Given the description of an element on the screen output the (x, y) to click on. 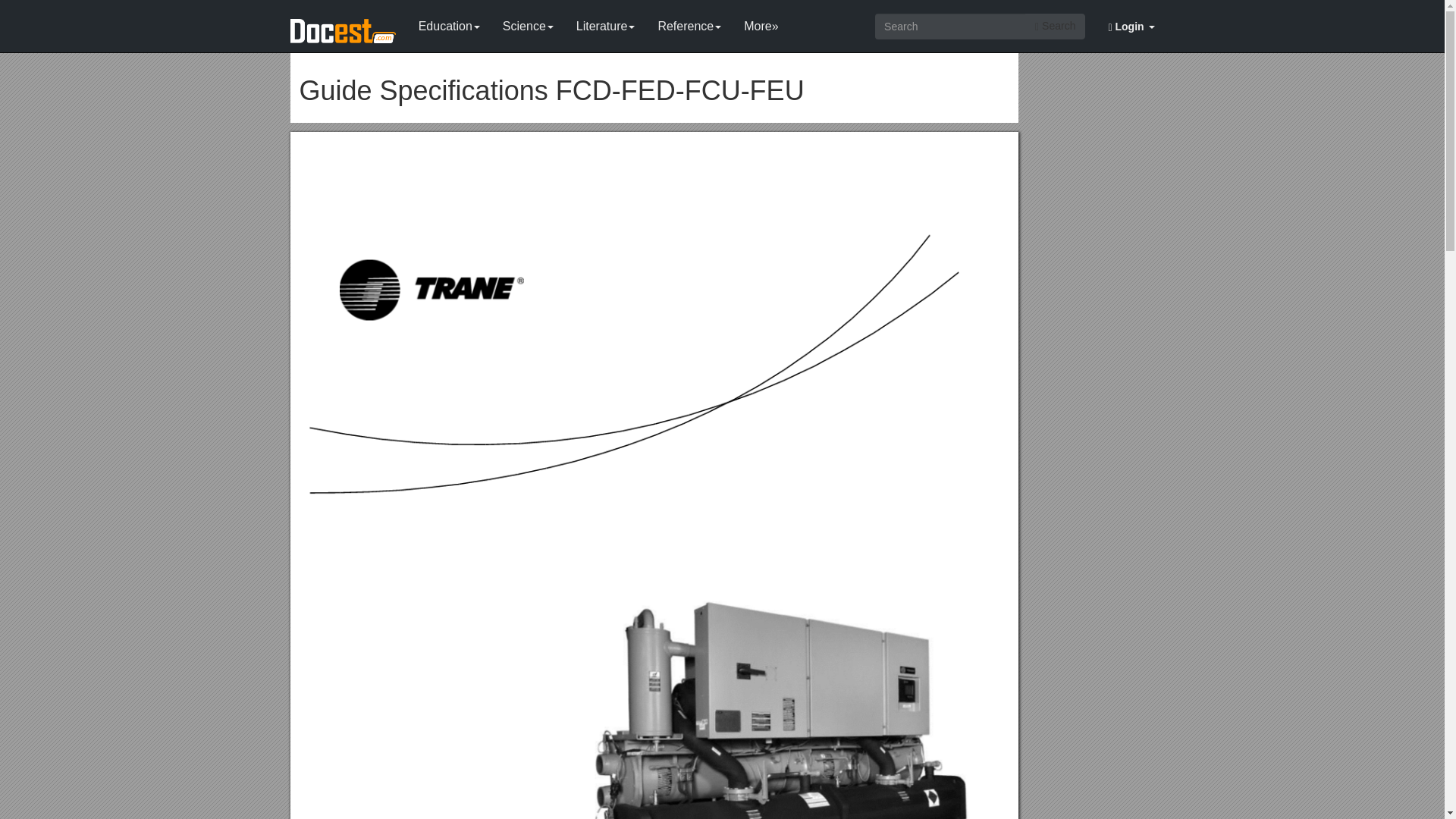
Reference (689, 22)
Science (528, 22)
Literature (605, 22)
Education (449, 22)
